Given the description of an element on the screen output the (x, y) to click on. 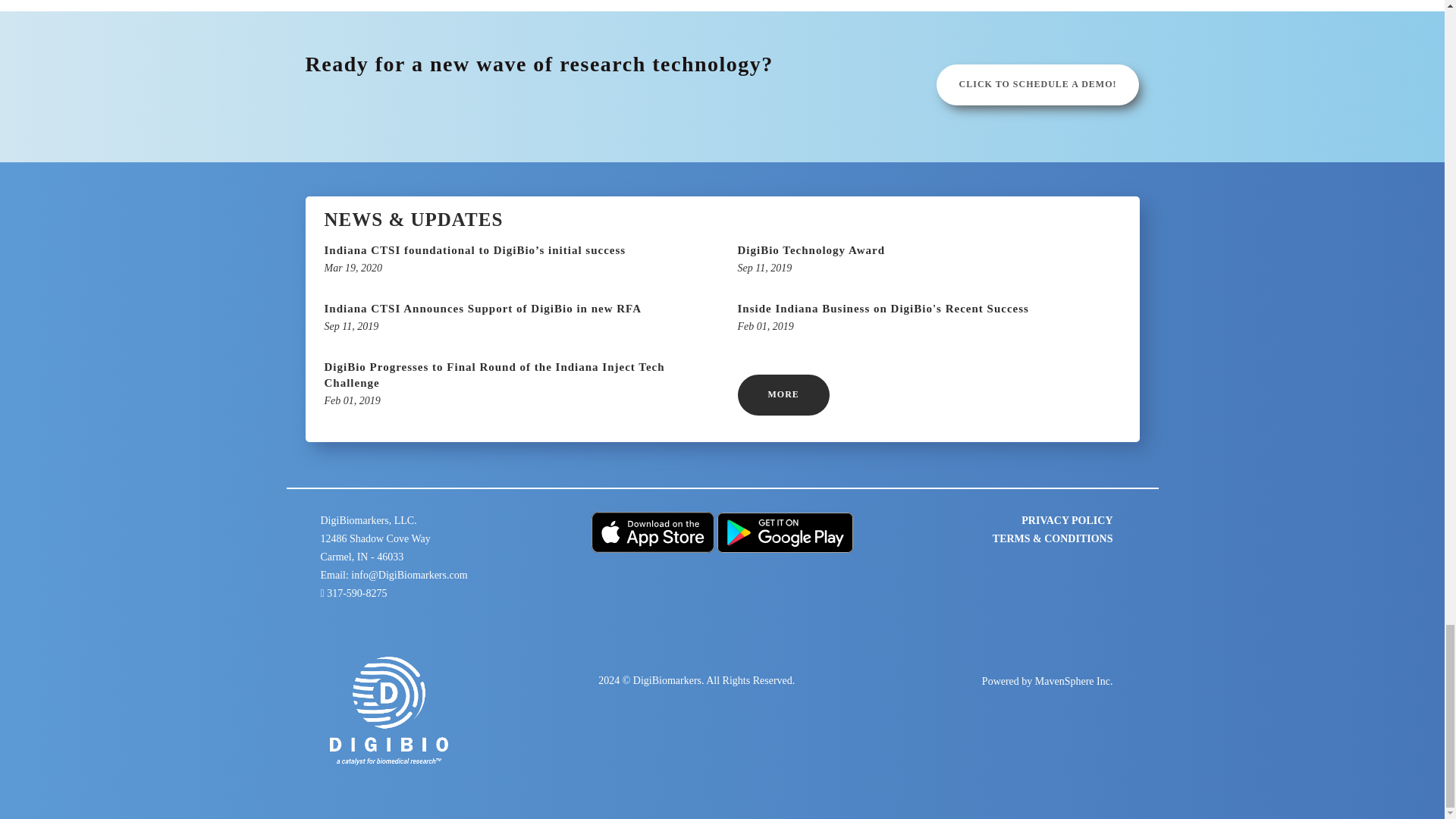
MORE (927, 260)
CLICK TO SCHEDULE A DEMO! (782, 394)
PRIVACY POLICY (1038, 84)
